Given the description of an element on the screen output the (x, y) to click on. 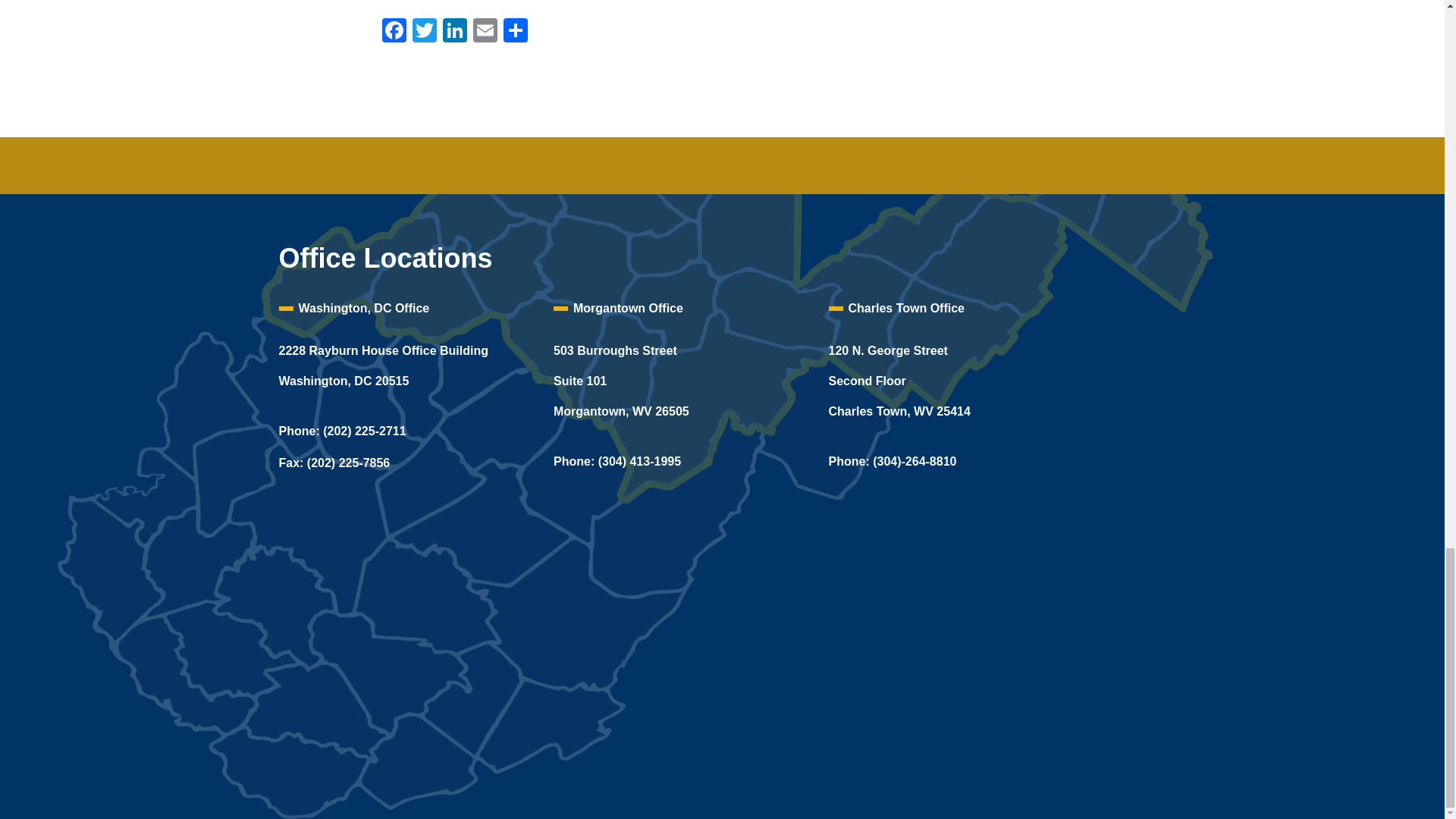
Email (485, 31)
Twitter (424, 31)
LinkedIn (454, 31)
Facebook (393, 31)
